Given the description of an element on the screen output the (x, y) to click on. 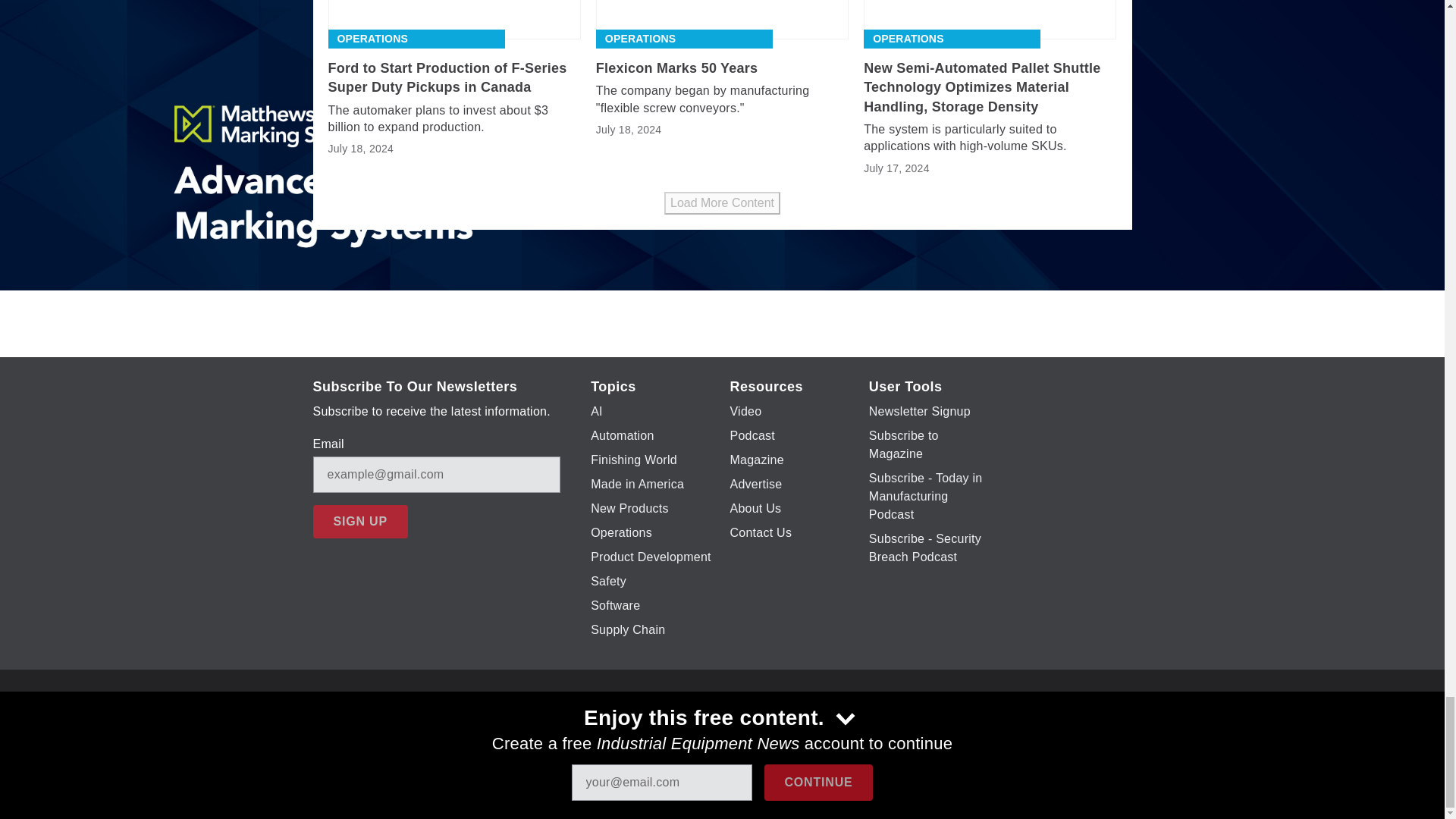
YouTube icon (696, 727)
Twitter X icon (656, 727)
Facebook icon (617, 727)
Instagram icon (735, 727)
LinkedIn icon (775, 727)
